Given the description of an element on the screen output the (x, y) to click on. 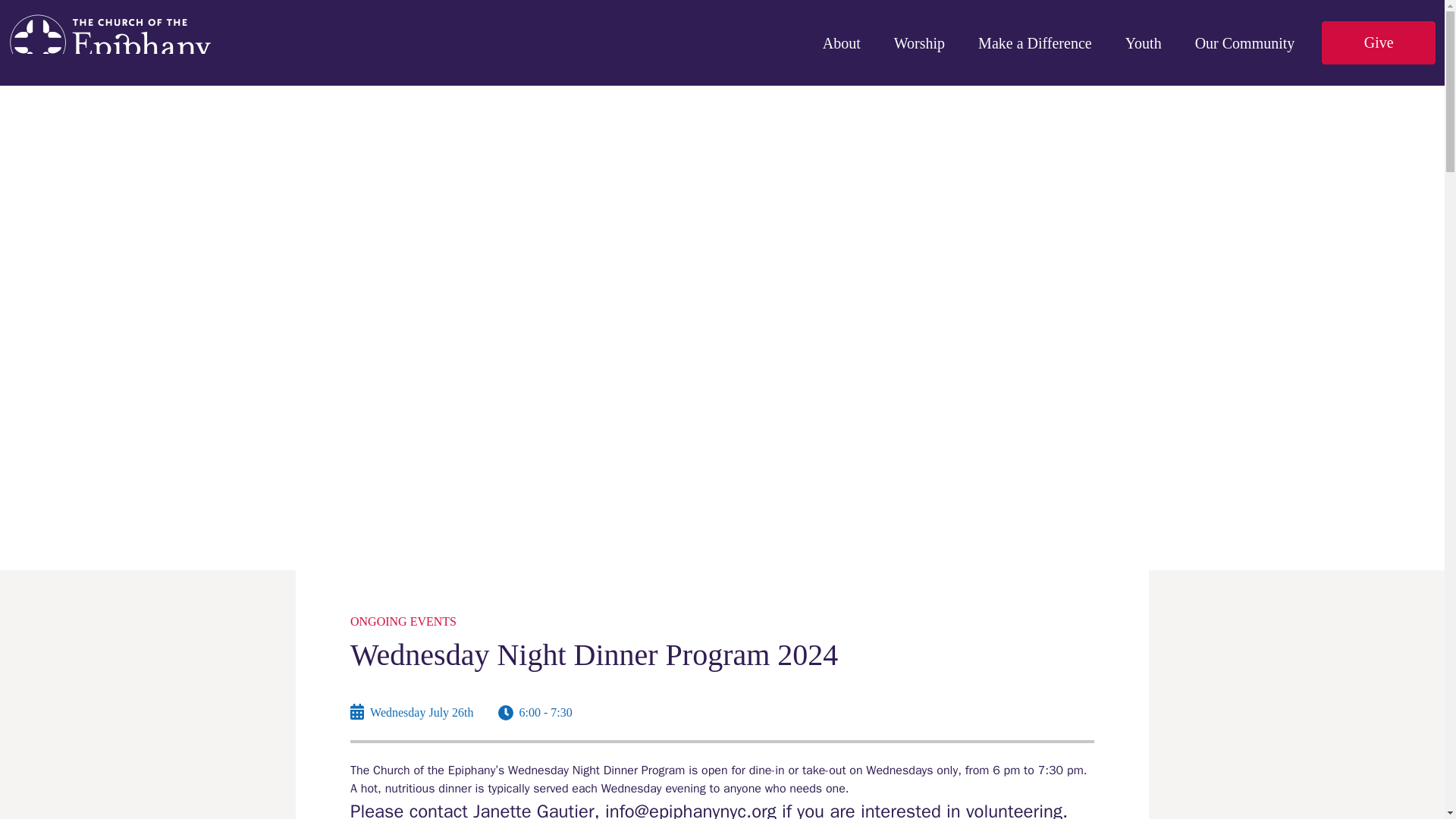
Make a Difference (1034, 33)
Give (1378, 43)
Our Community (1245, 33)
Worship (919, 33)
